Given the description of an element on the screen output the (x, y) to click on. 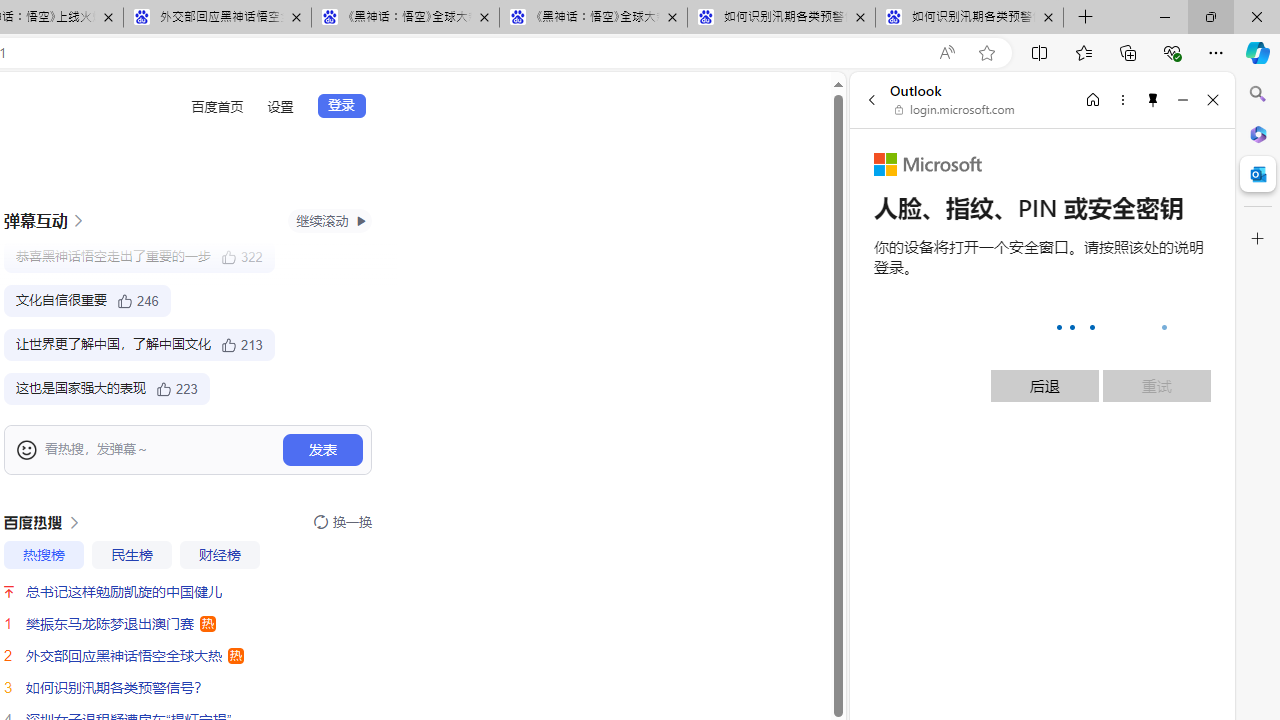
Microsoft (927, 164)
